Given the description of an element on the screen output the (x, y) to click on. 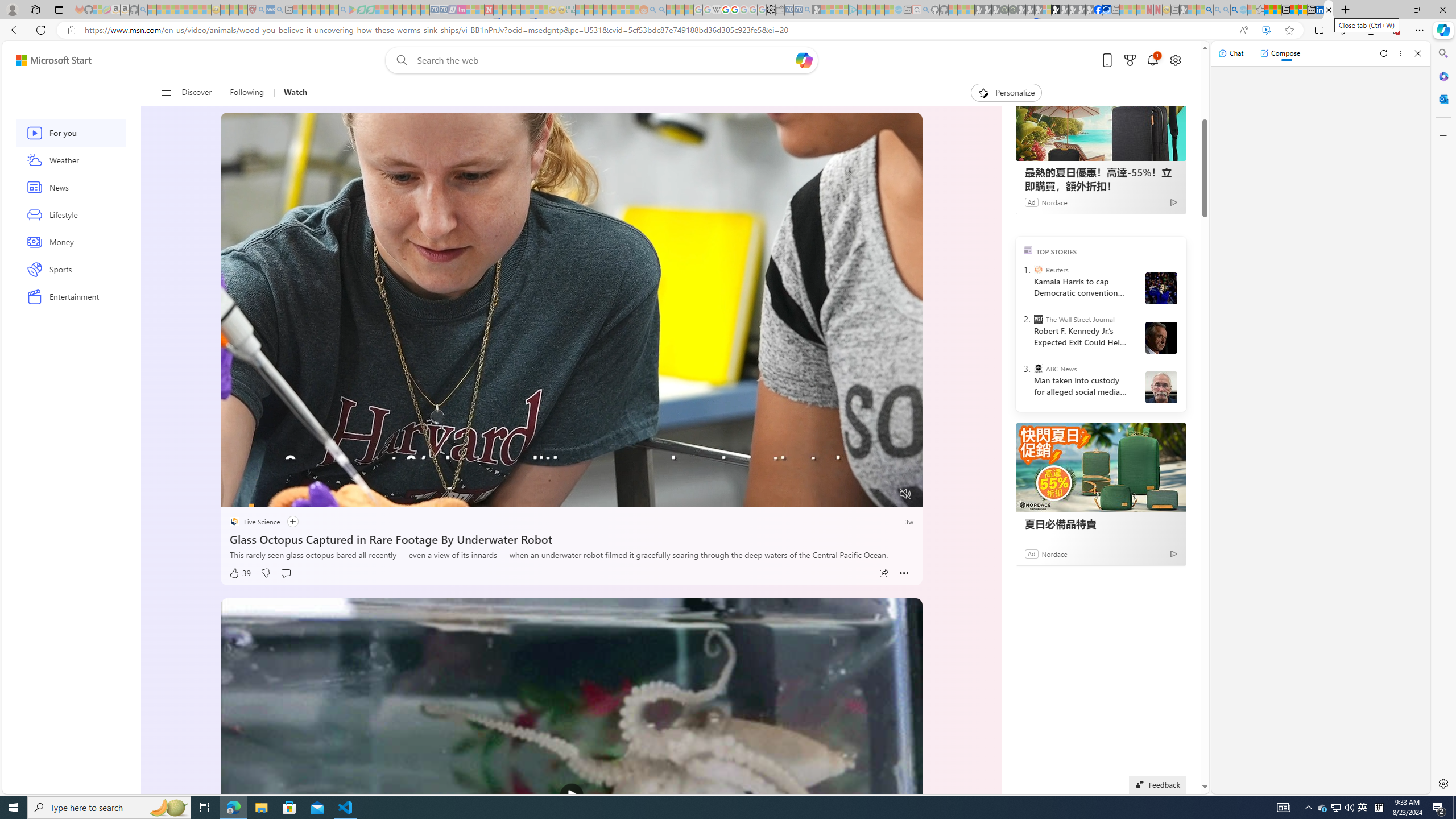
Nordace | Facebook (1098, 9)
